Given the description of an element on the screen output the (x, y) to click on. 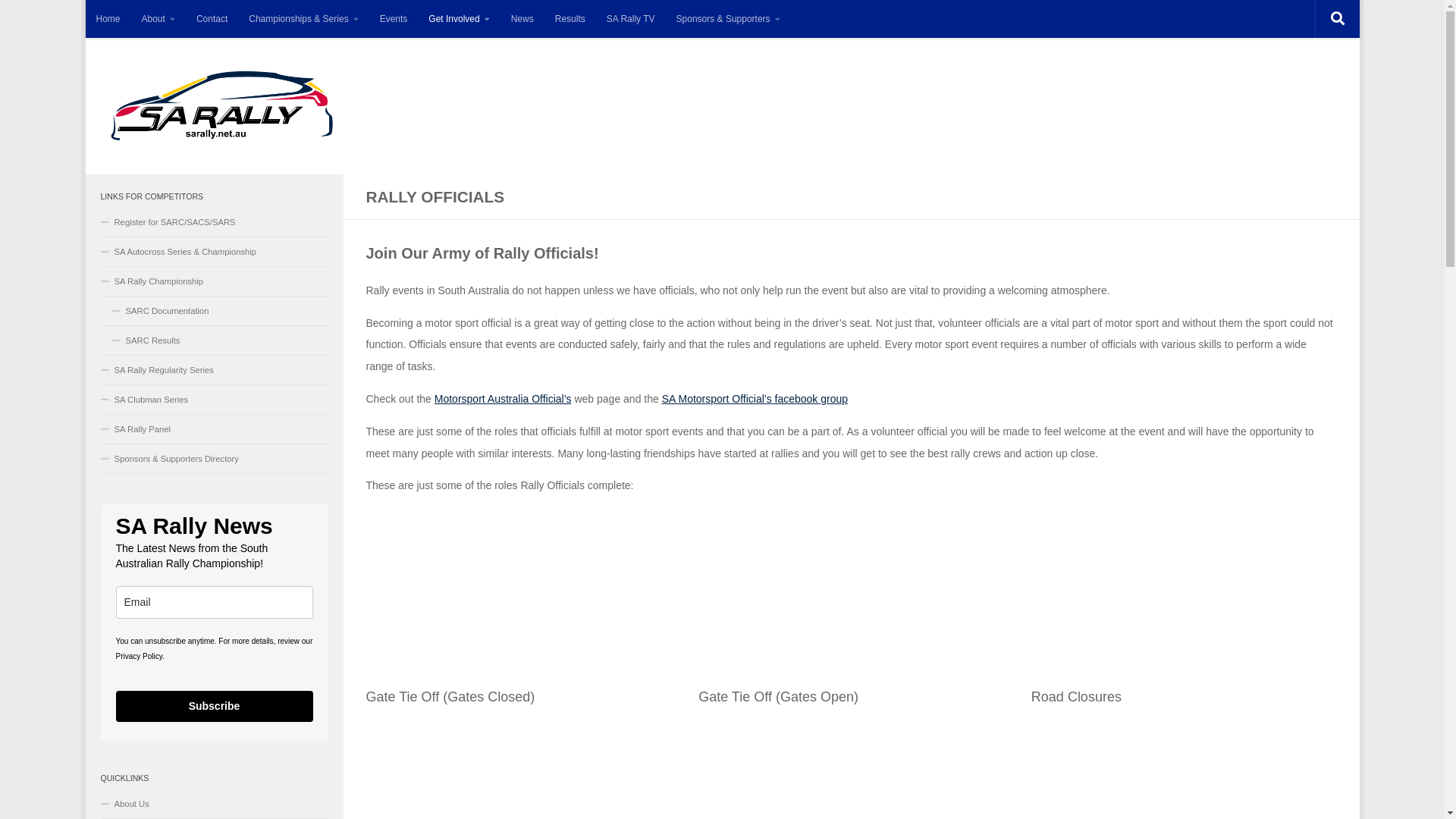
Sponsors & Supporters Element type: text (727, 18)
Results Element type: text (570, 18)
News Element type: text (522, 18)
SARC Documentation Element type: text (213, 311)
SA Rally TV Element type: text (630, 18)
Championships & Series Element type: text (303, 18)
Events Element type: text (393, 18)
SA Clubman Series Element type: text (213, 399)
SA Rally Regularity Series Element type: text (213, 370)
SA Rally Panel Element type: text (213, 429)
Subscribe Element type: text (213, 705)
SARC Results Element type: text (213, 340)
About Element type: text (158, 18)
Register for SARC/SACS/SARS Element type: text (213, 222)
Home Element type: text (107, 18)
SA Autocross Series & Championship Element type: text (213, 251)
Contact Element type: text (211, 18)
Get Involved Element type: text (458, 18)
Skip to content Element type: text (137, 19)
Sponsors & Supporters Directory Element type: text (213, 458)
South Australian Rallying | Home page Element type: hover (221, 106)
SA Rally Championship Element type: text (213, 281)
